Given the description of an element on the screen output the (x, y) to click on. 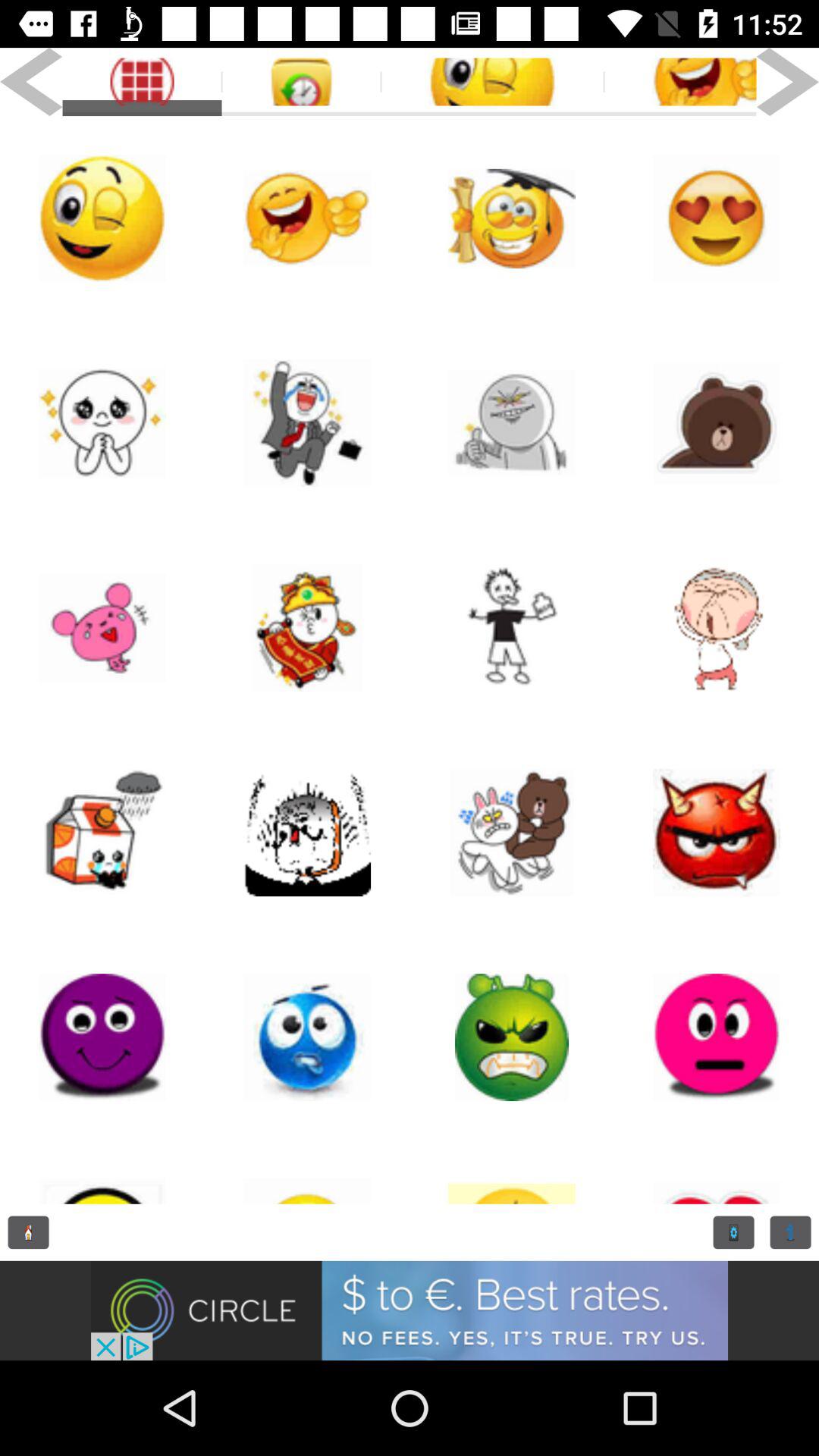
emoji 's selection (102, 1037)
